Given the description of an element on the screen output the (x, y) to click on. 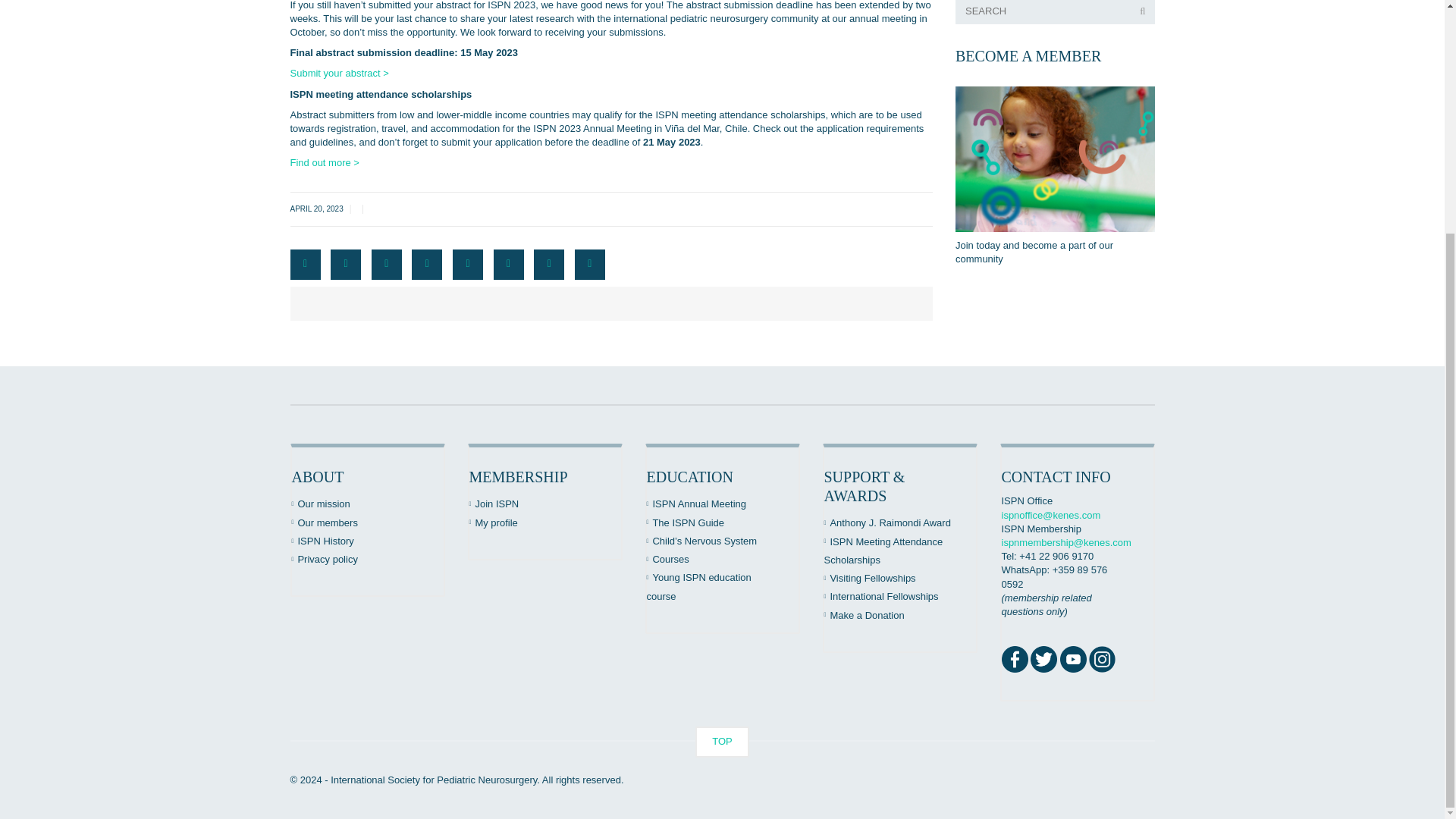
Email this (590, 264)
Share on Tumblr (427, 264)
Share on LinkedIn (386, 264)
Pin this (508, 264)
Share on Twitter (345, 264)
Share on Facebook (304, 264)
Share on Vk (549, 264)
Share on Google Plus (467, 264)
